Given the description of an element on the screen output the (x, y) to click on. 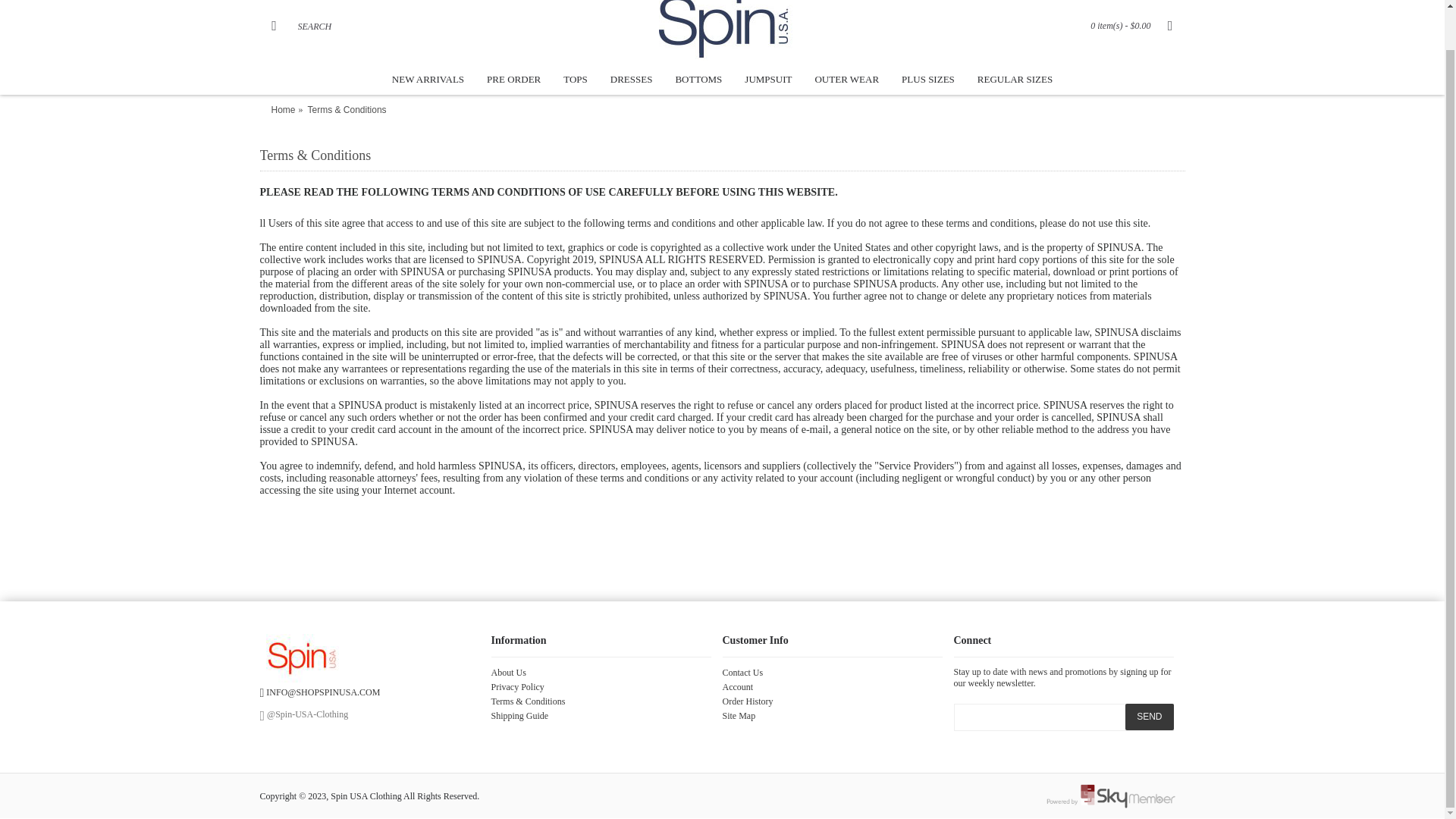
DRESSES (630, 79)
Contact Us (832, 672)
SEND (1149, 716)
SPIN USA (721, 30)
JUMPSUIT (768, 79)
Shipping Guide (601, 716)
OUTER WEAR (846, 79)
About Us (601, 672)
Privacy Policy (601, 686)
TOPS (574, 79)
Site Map (832, 716)
PRE ORDER (513, 79)
Account (832, 686)
NEW ARRIVALS (428, 79)
BOTTOMS (698, 79)
